Given the description of an element on the screen output the (x, y) to click on. 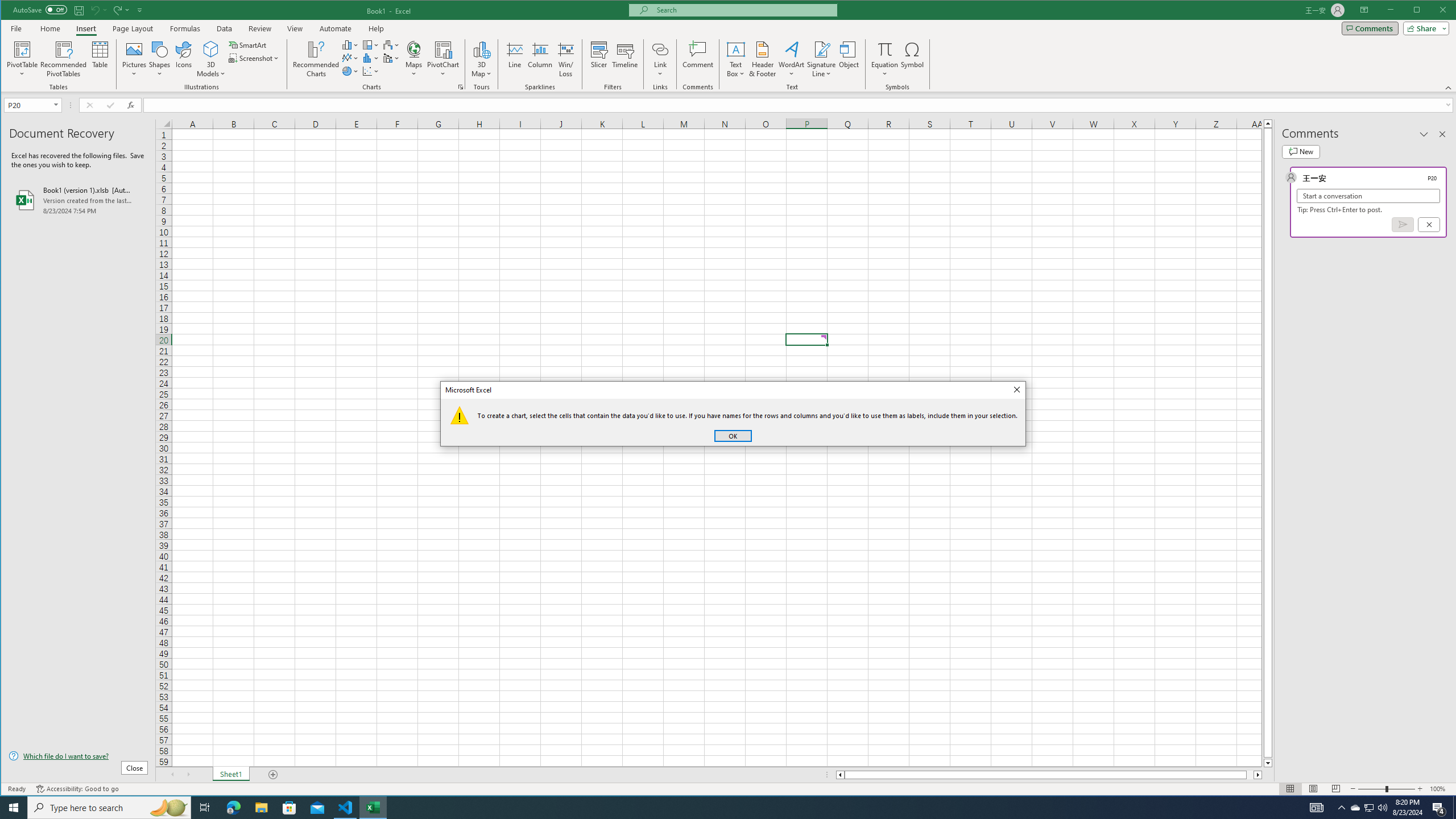
Screenshot (254, 57)
Save (79, 9)
Class: NetUIScrollBar (1048, 774)
Class: Static (458, 415)
Zoom (1386, 788)
Signature Line (821, 48)
Link (659, 48)
Task View (204, 807)
Open (56, 105)
Post comment (Ctrl + Enter) (1402, 224)
